Given the description of an element on the screen output the (x, y) to click on. 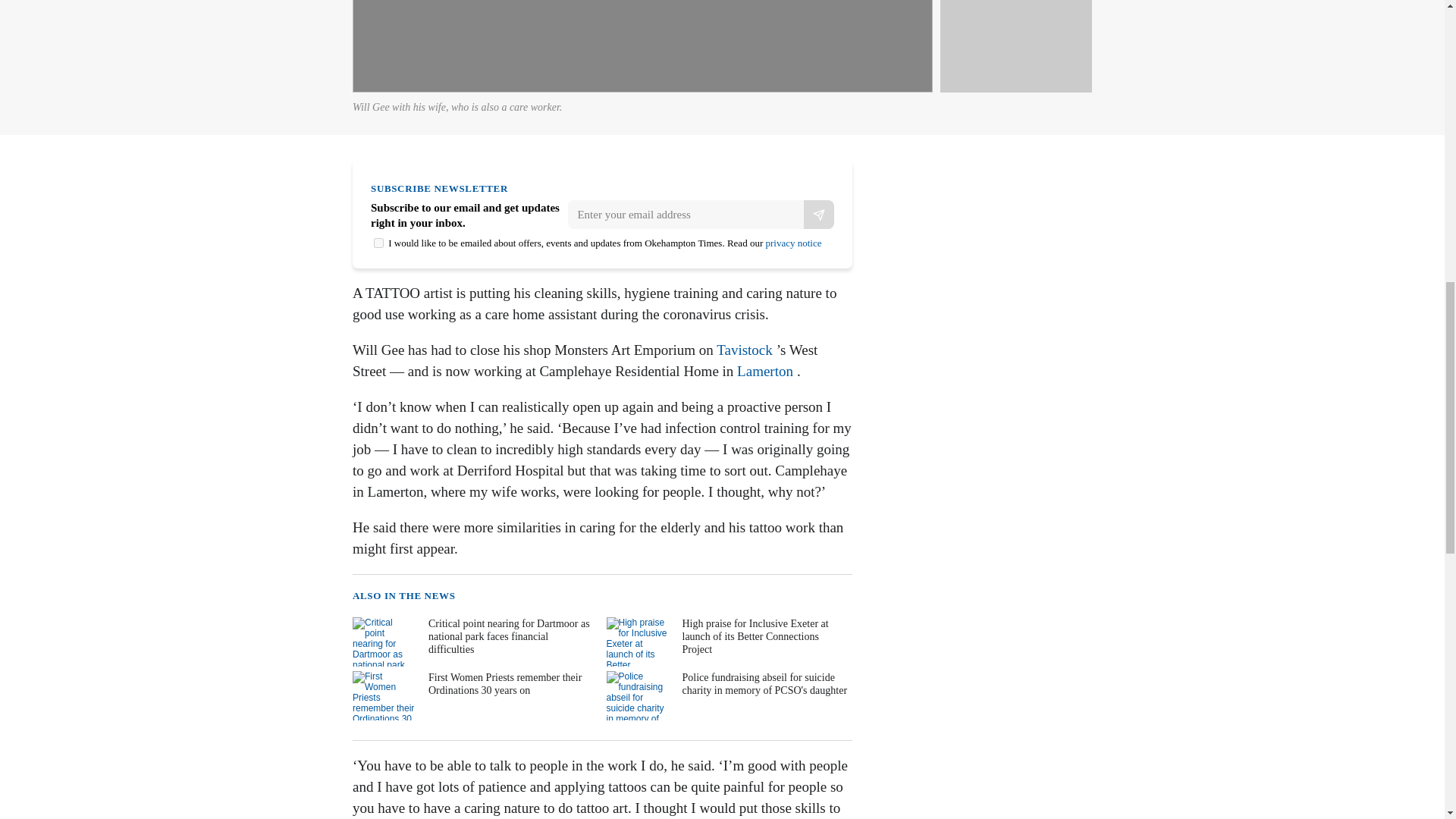
Tavistock (744, 349)
privacy notice (793, 242)
Lamerton (764, 371)
on (379, 243)
First Women Priests remember their Ordinations 30 years on (473, 695)
